Given the description of an element on the screen output the (x, y) to click on. 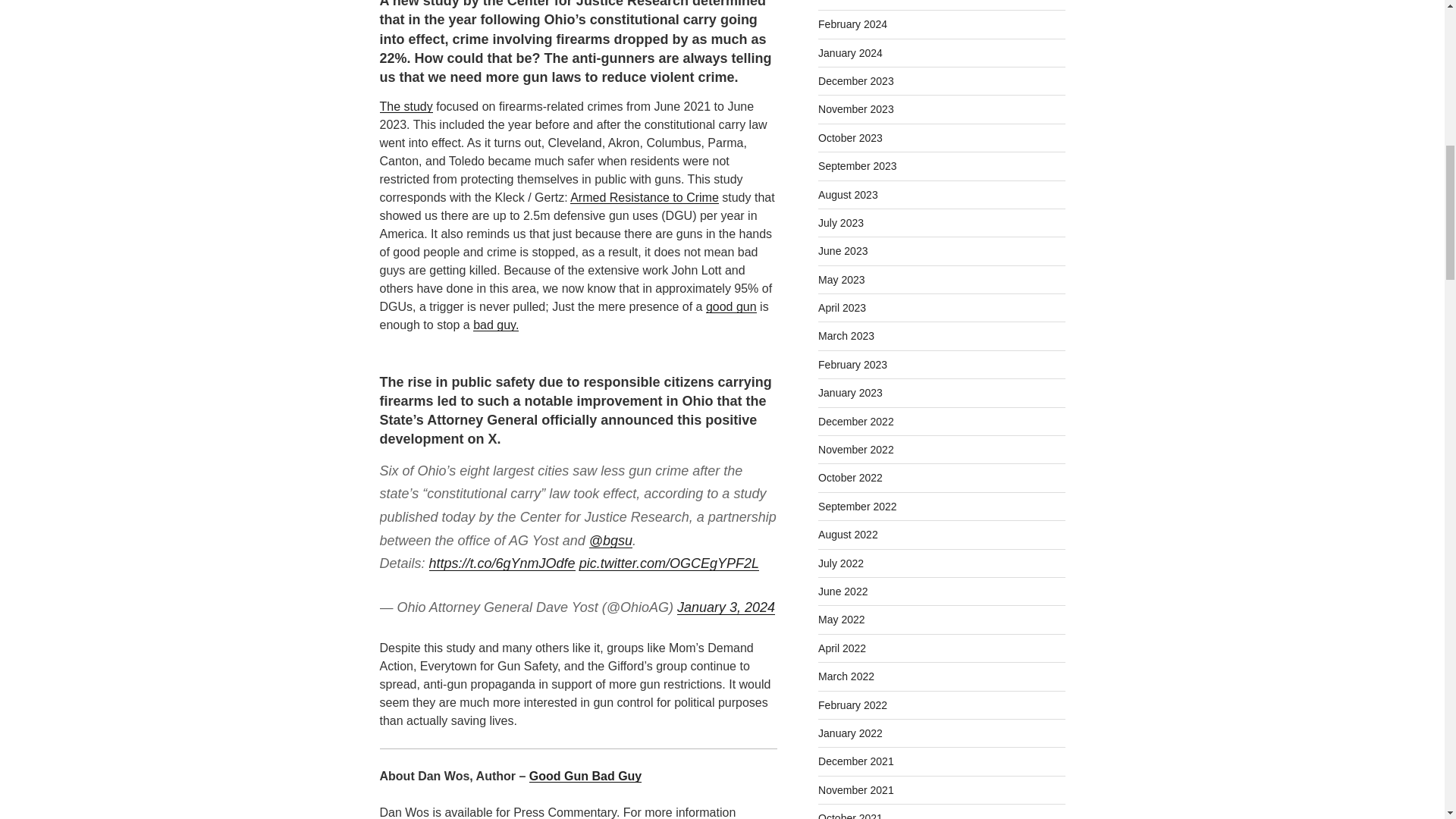
Good Gun Bad Guy (585, 775)
July 2023 (840, 223)
March 2024 (846, 1)
Armed Resistance to Crime (644, 196)
January 2024 (850, 52)
June 2023 (842, 250)
October 2023 (850, 137)
January 3, 2024 (725, 607)
bad guy. (495, 324)
December 2023 (855, 80)
